Given the description of an element on the screen output the (x, y) to click on. 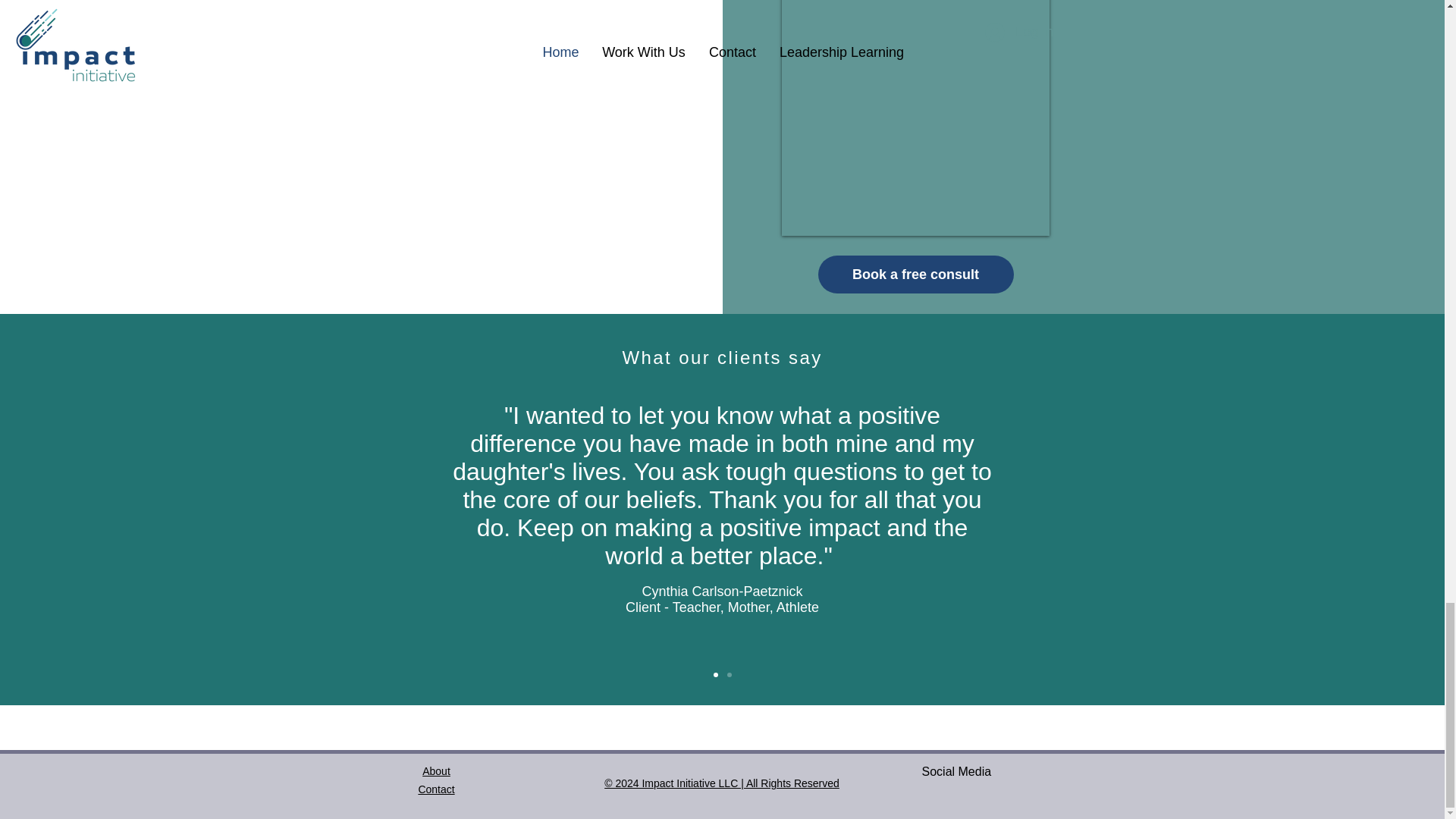
Book a free consult (914, 274)
About (435, 770)
Contact (435, 788)
